Given the description of an element on the screen output the (x, y) to click on. 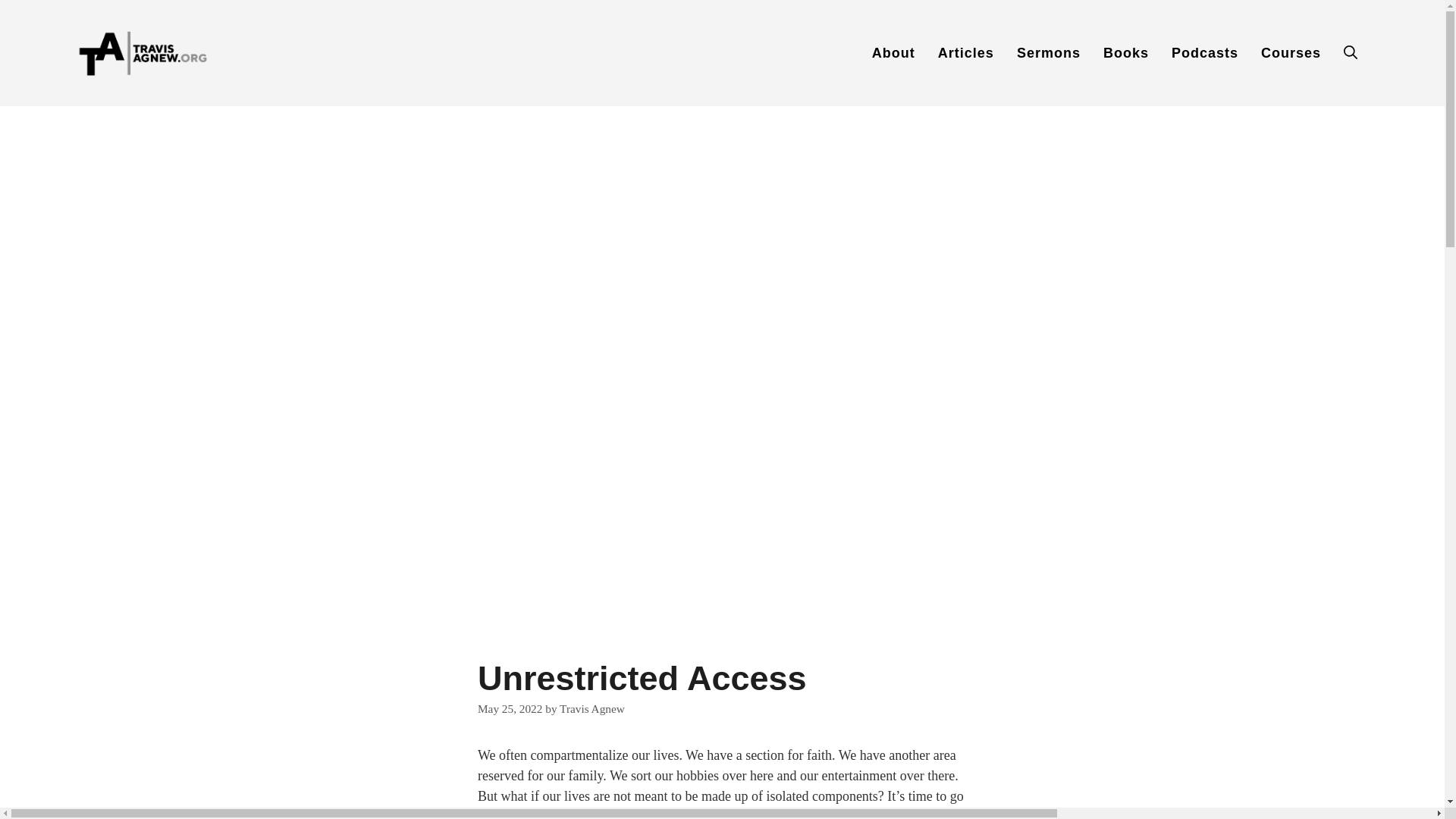
Travis Agnew (591, 707)
View all posts by Travis Agnew (591, 707)
Courses (1290, 52)
Sermons (1049, 52)
Books (1126, 52)
Podcasts (1204, 52)
Articles (966, 52)
